Given the description of an element on the screen output the (x, y) to click on. 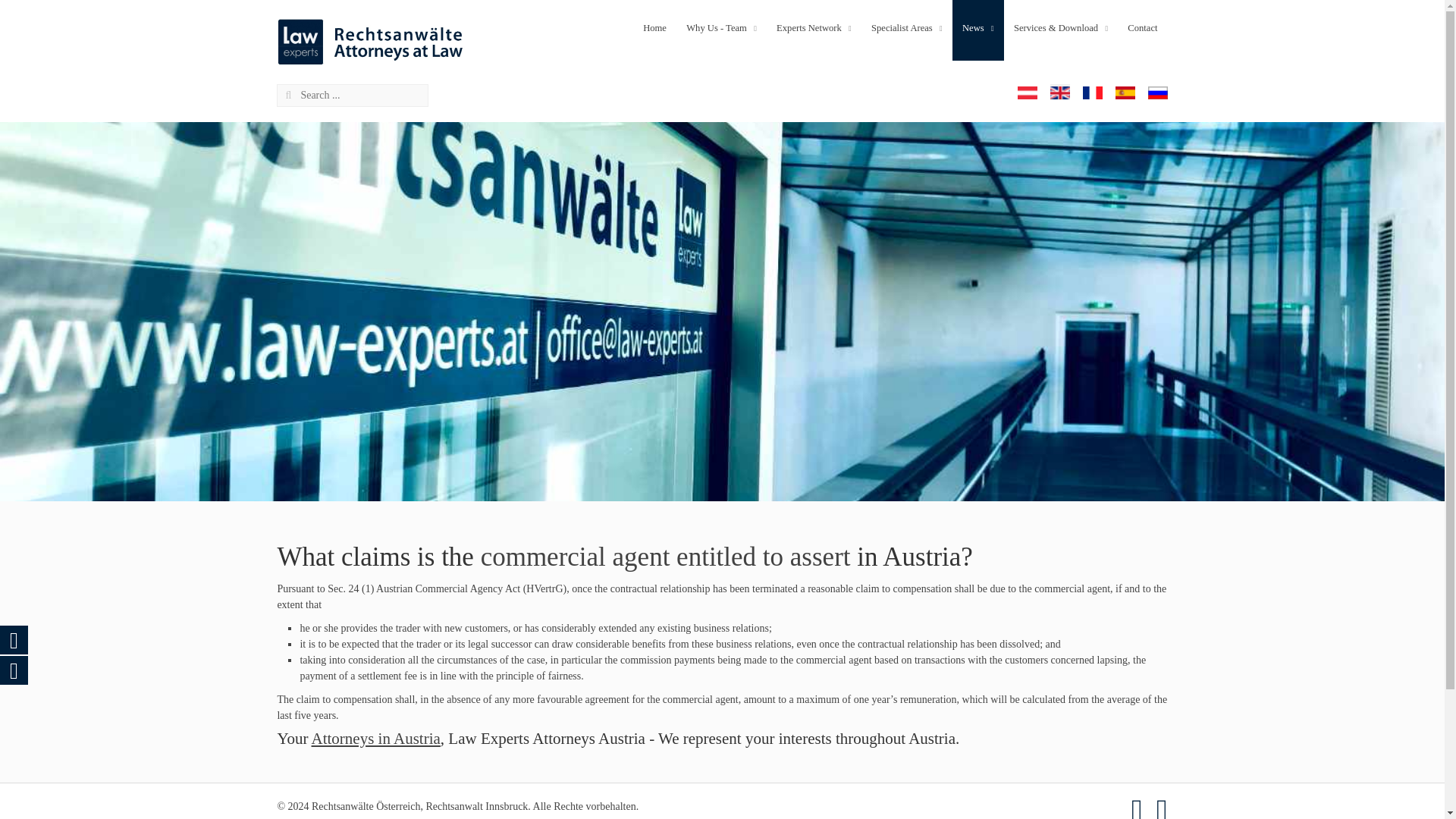
Specialist Areas (906, 28)
commercial agent entitled to assert (665, 556)
Attorneys in Austria (376, 738)
Why Us - Team (722, 28)
Why Us - Team (722, 28)
News (978, 28)
Law Experts.at (370, 39)
Experts Network (814, 30)
Experts Network (814, 28)
Specialist Areas (906, 30)
Why Us - Team (722, 30)
Specialist Areas (906, 28)
Experts Network (814, 28)
